Given the description of an element on the screen output the (x, y) to click on. 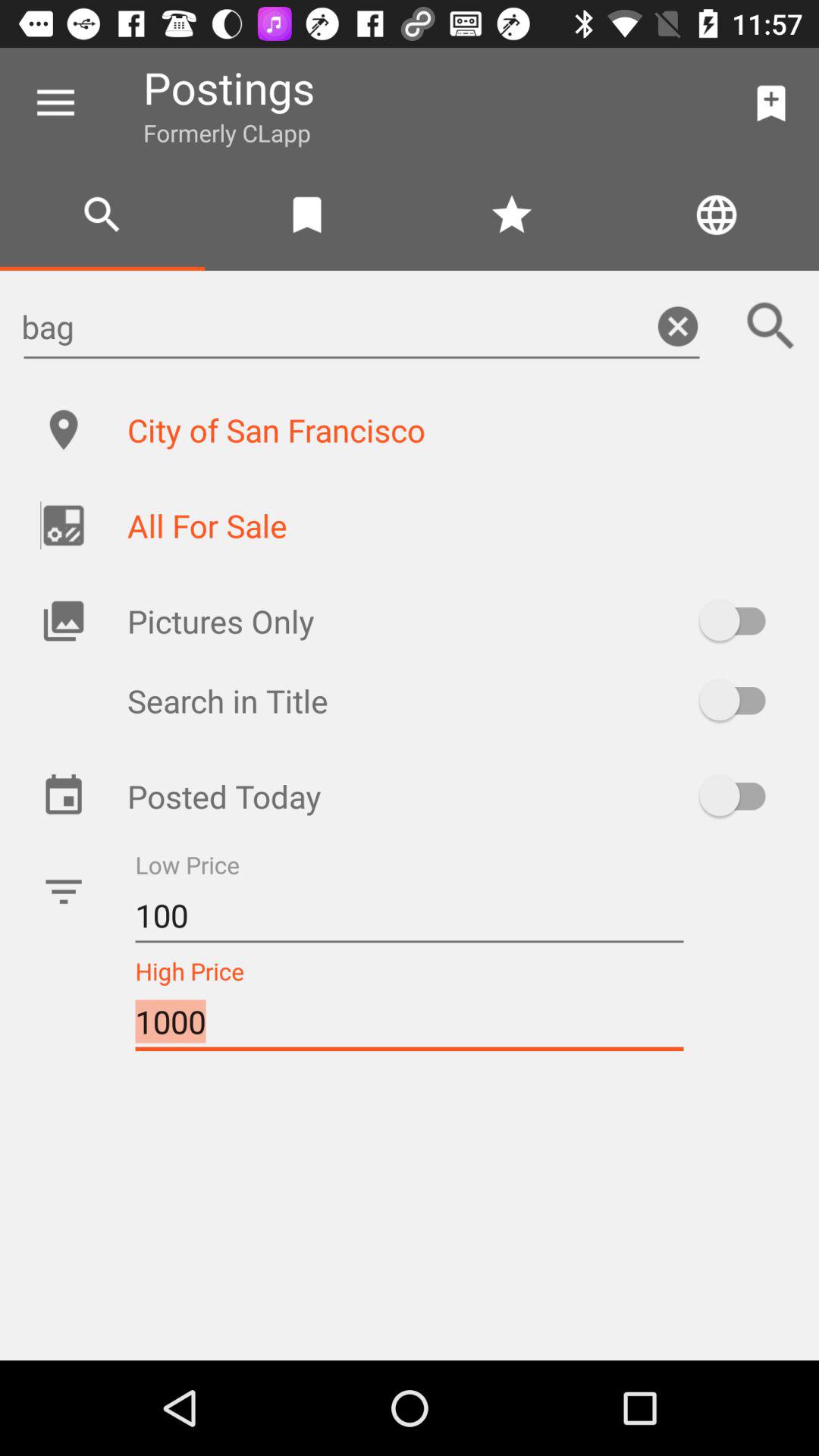
select icon to the right of postings icon (771, 103)
